Given the description of an element on the screen output the (x, y) to click on. 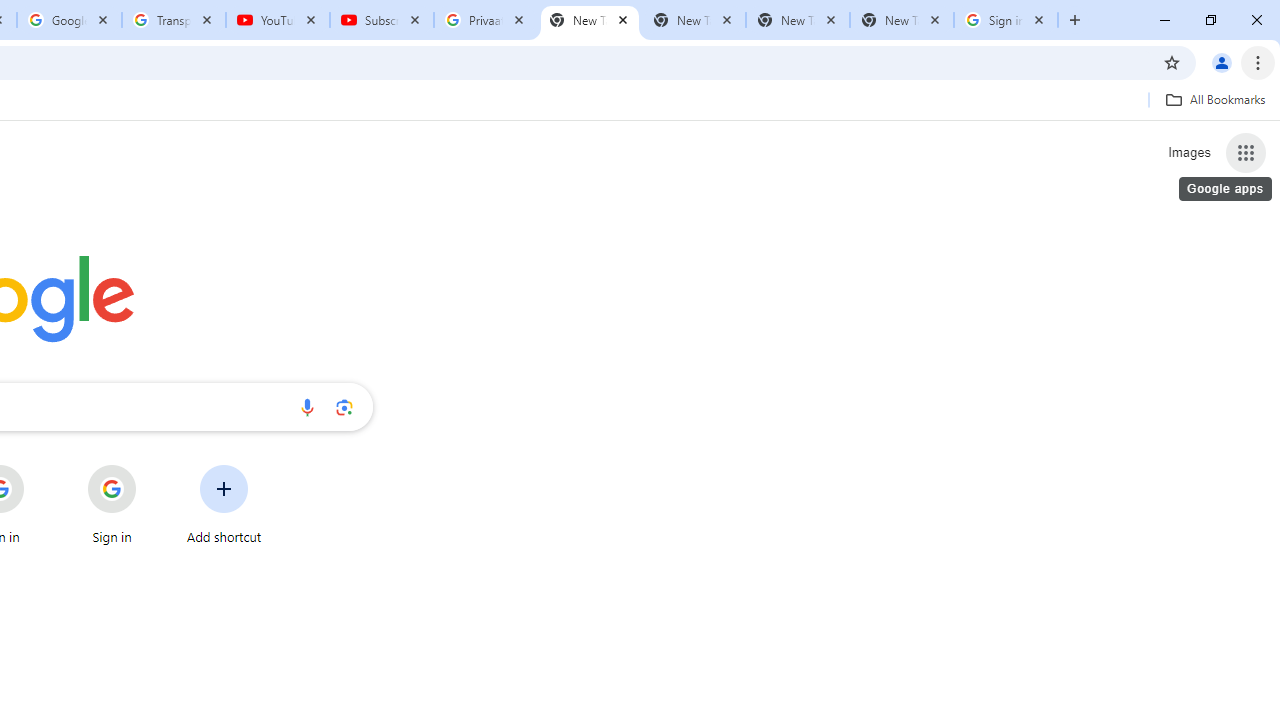
More actions for Sign in shortcut (152, 466)
New Tab (901, 20)
New Tab (589, 20)
Google Account (68, 20)
